Given the description of an element on the screen output the (x, y) to click on. 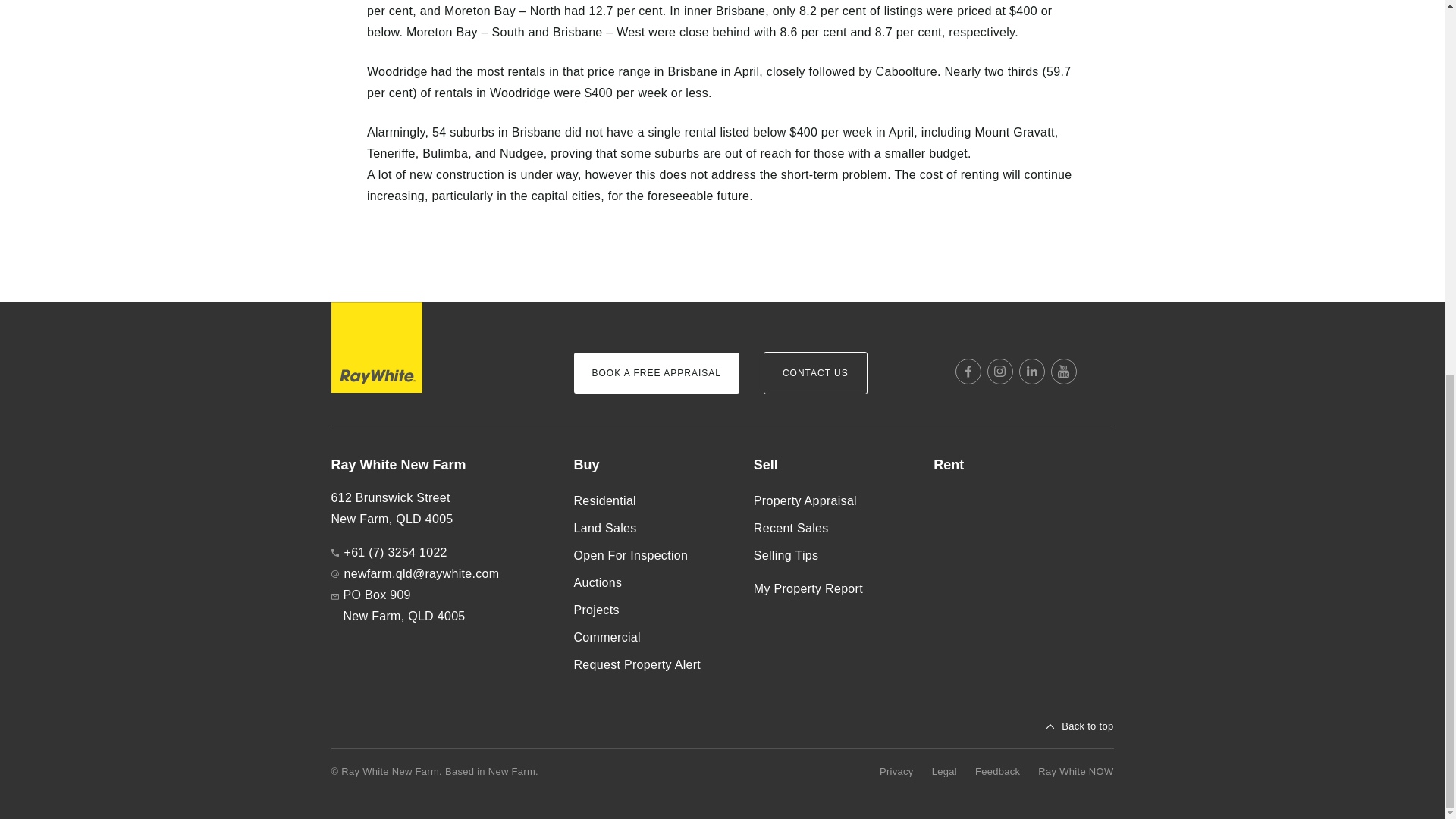
Open For Inspection (651, 555)
Request Property Alert (651, 664)
Feedback (997, 771)
Projects (651, 610)
Land Sales (651, 528)
Ray White NOW (1075, 771)
Auctions (651, 583)
Youtube (1064, 371)
Commercial (651, 637)
BOOK A FREE APPRAISAL (655, 372)
CONTACT US (814, 372)
Ray White (376, 347)
Residential (651, 501)
Recent Sales (831, 528)
Sell (831, 465)
